Given the description of an element on the screen output the (x, y) to click on. 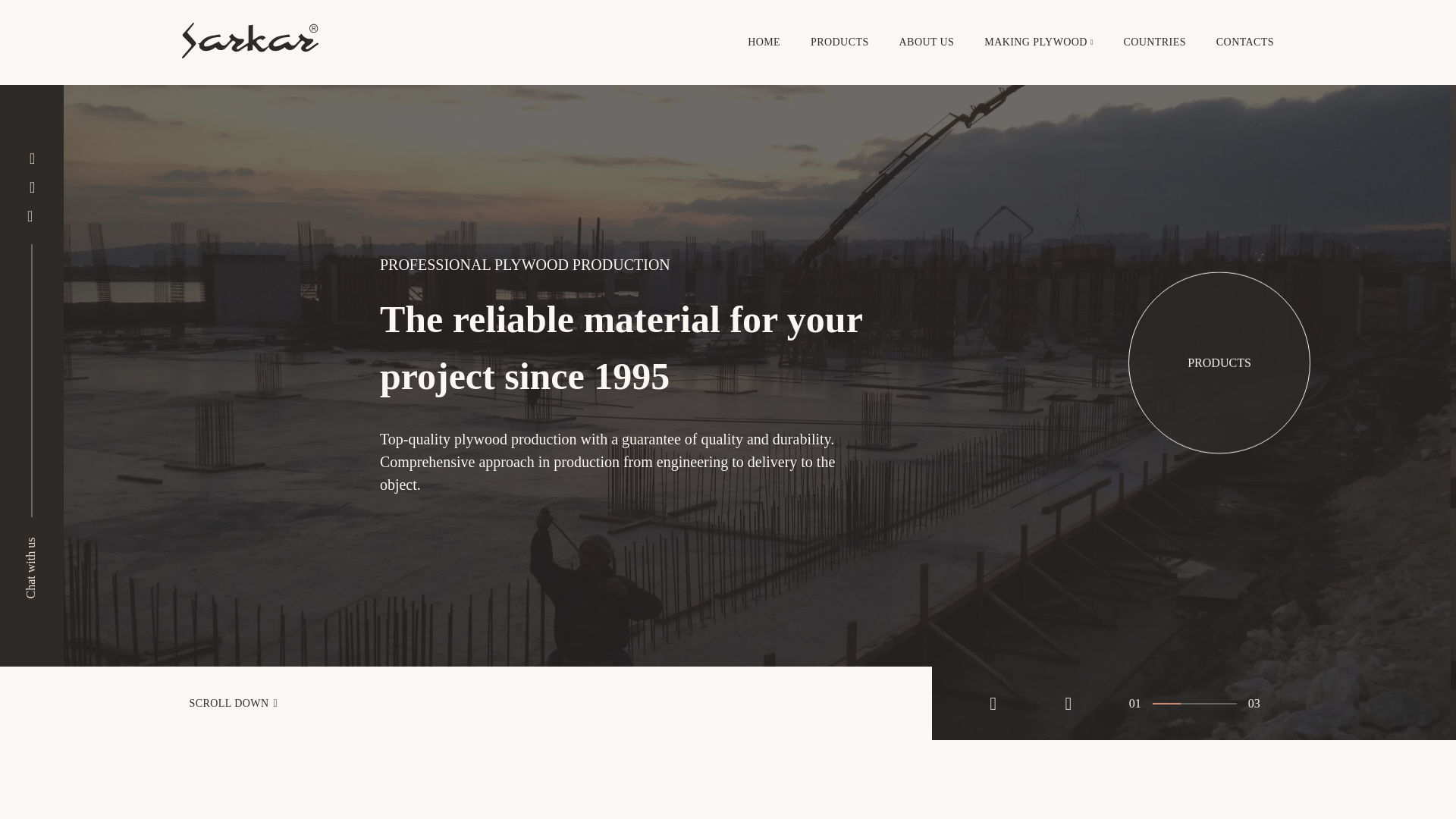
PRODUCTS (839, 41)
SCROLL DOWN (465, 703)
COUNTRIES (1155, 41)
ABOUT US (927, 41)
HOME (764, 41)
MAKING PLYWOOD (1035, 41)
PRODUCTS (1219, 361)
CONTACTS (1244, 41)
